Given the description of an element on the screen output the (x, y) to click on. 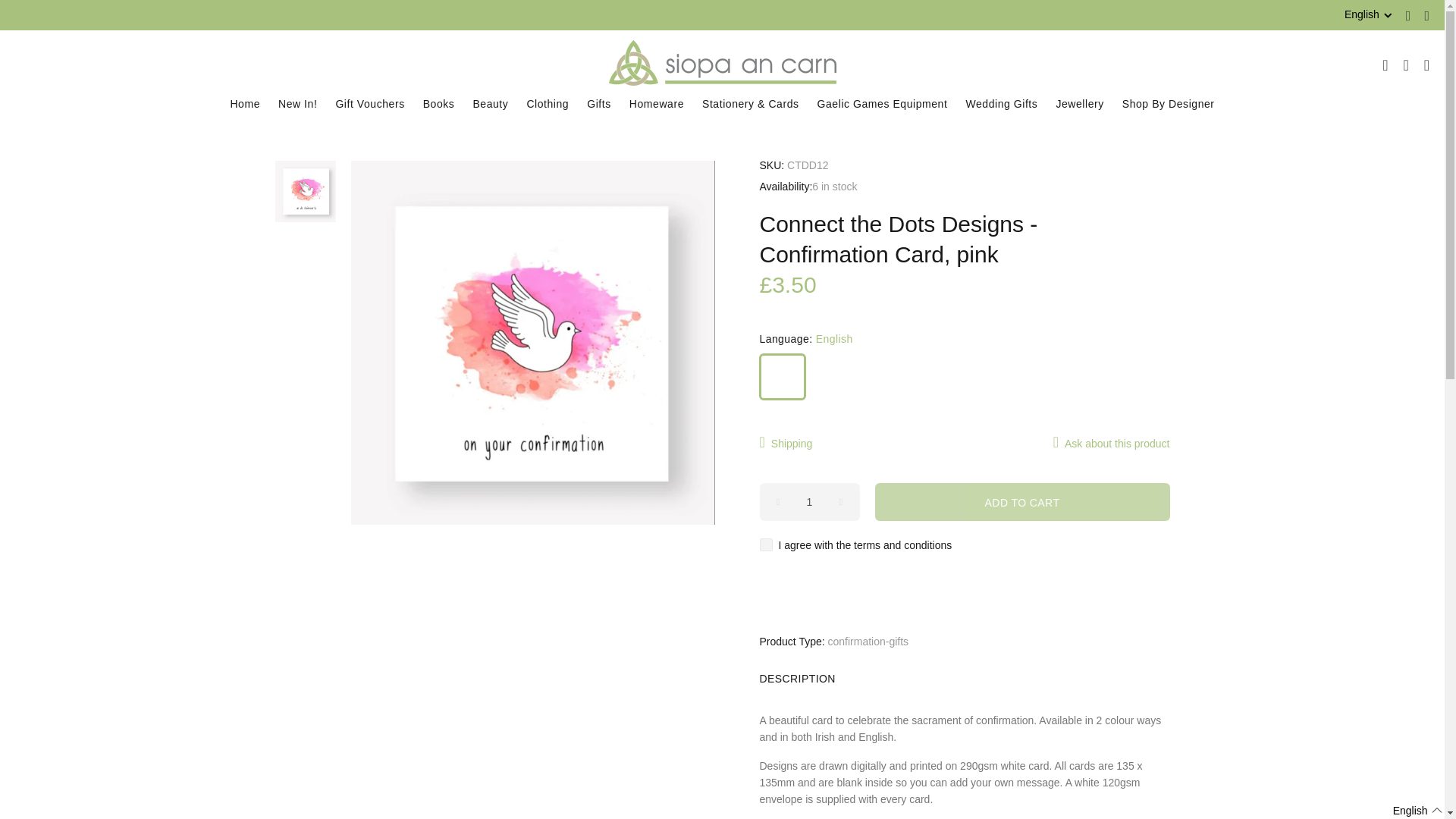
1 (810, 501)
